Given the description of an element on the screen output the (x, y) to click on. 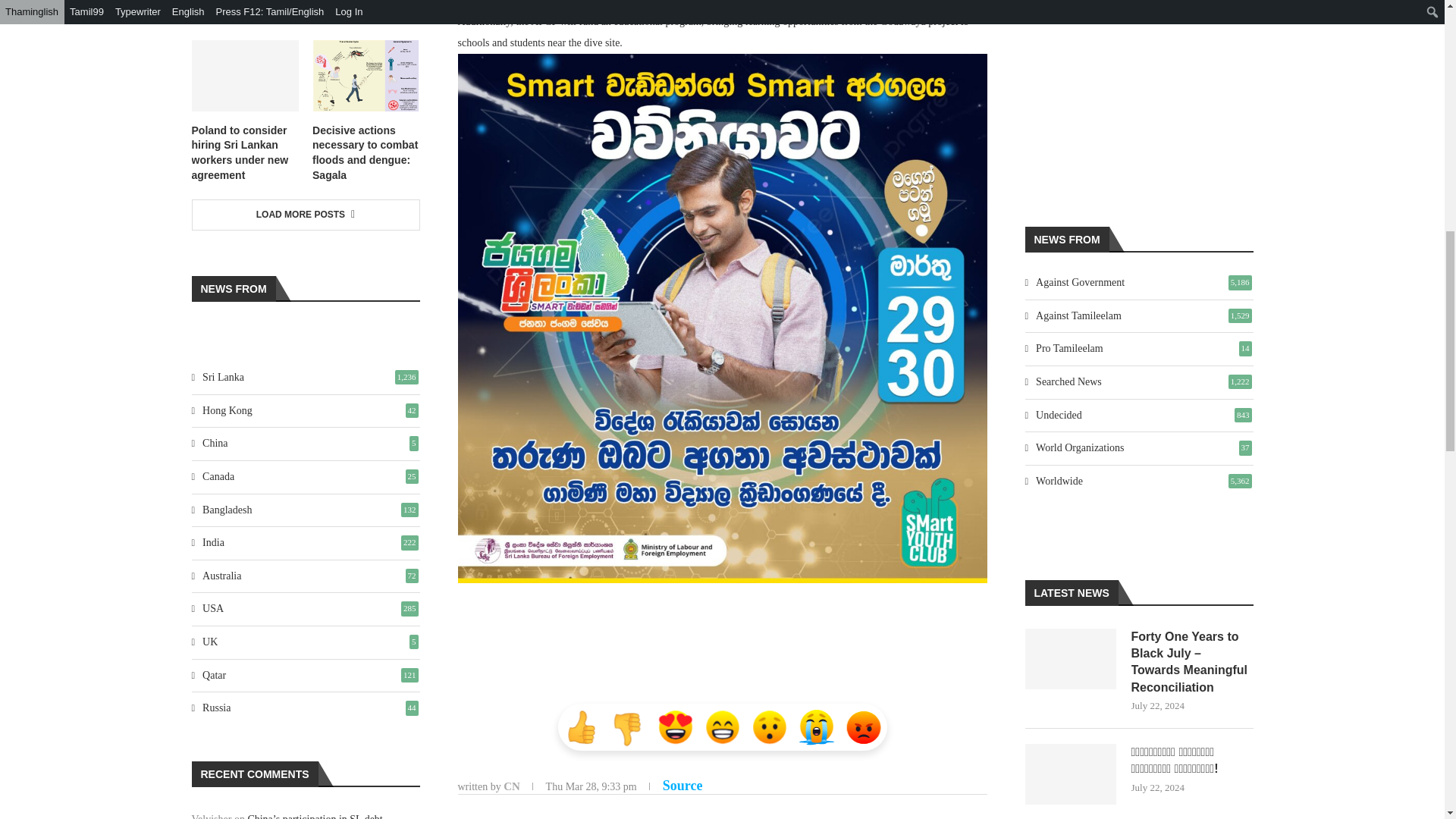
Source (682, 785)
CN (511, 786)
